Given the description of an element on the screen output the (x, y) to click on. 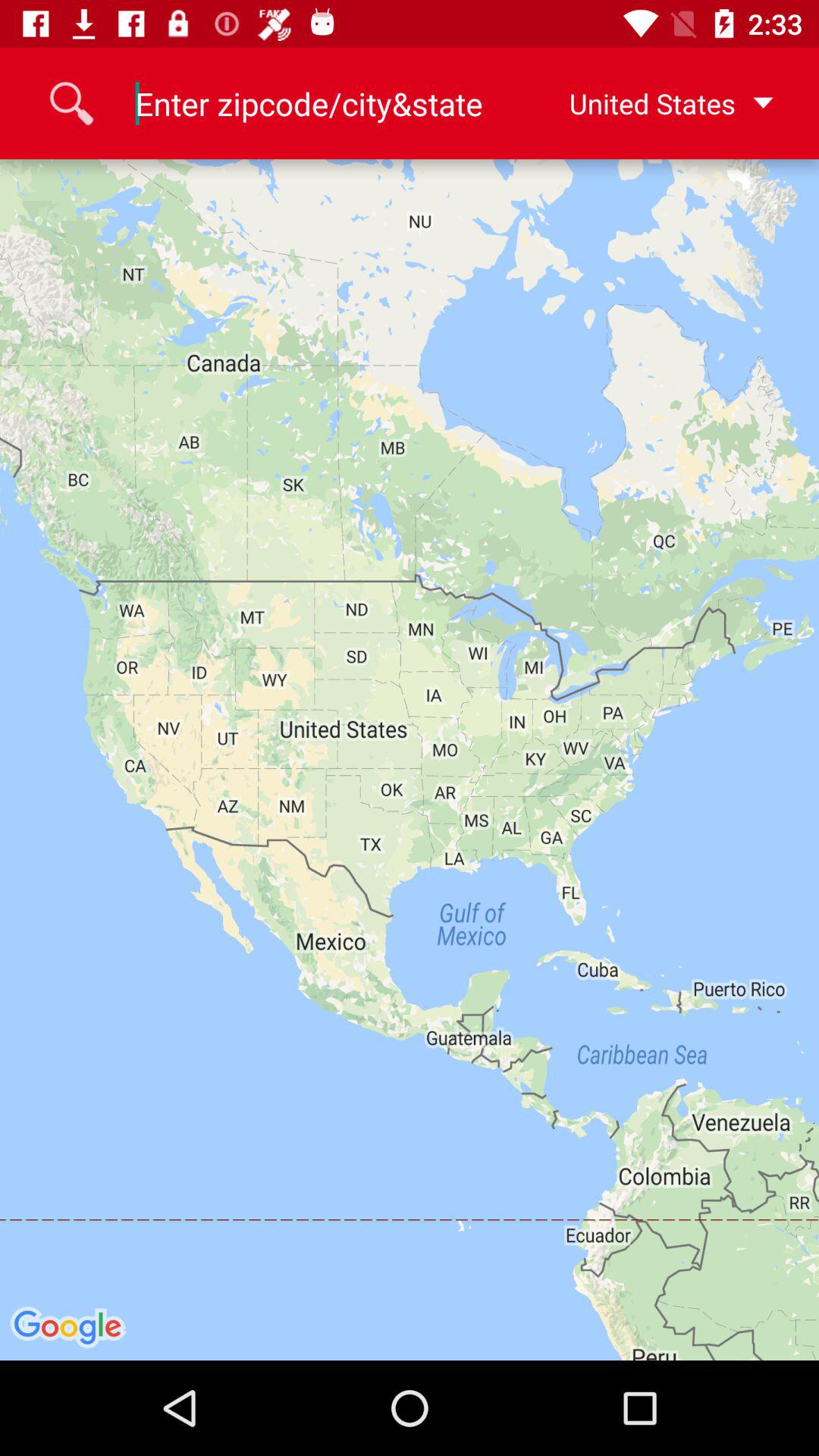
choose icon next to the united states item (309, 103)
